Given the description of an element on the screen output the (x, y) to click on. 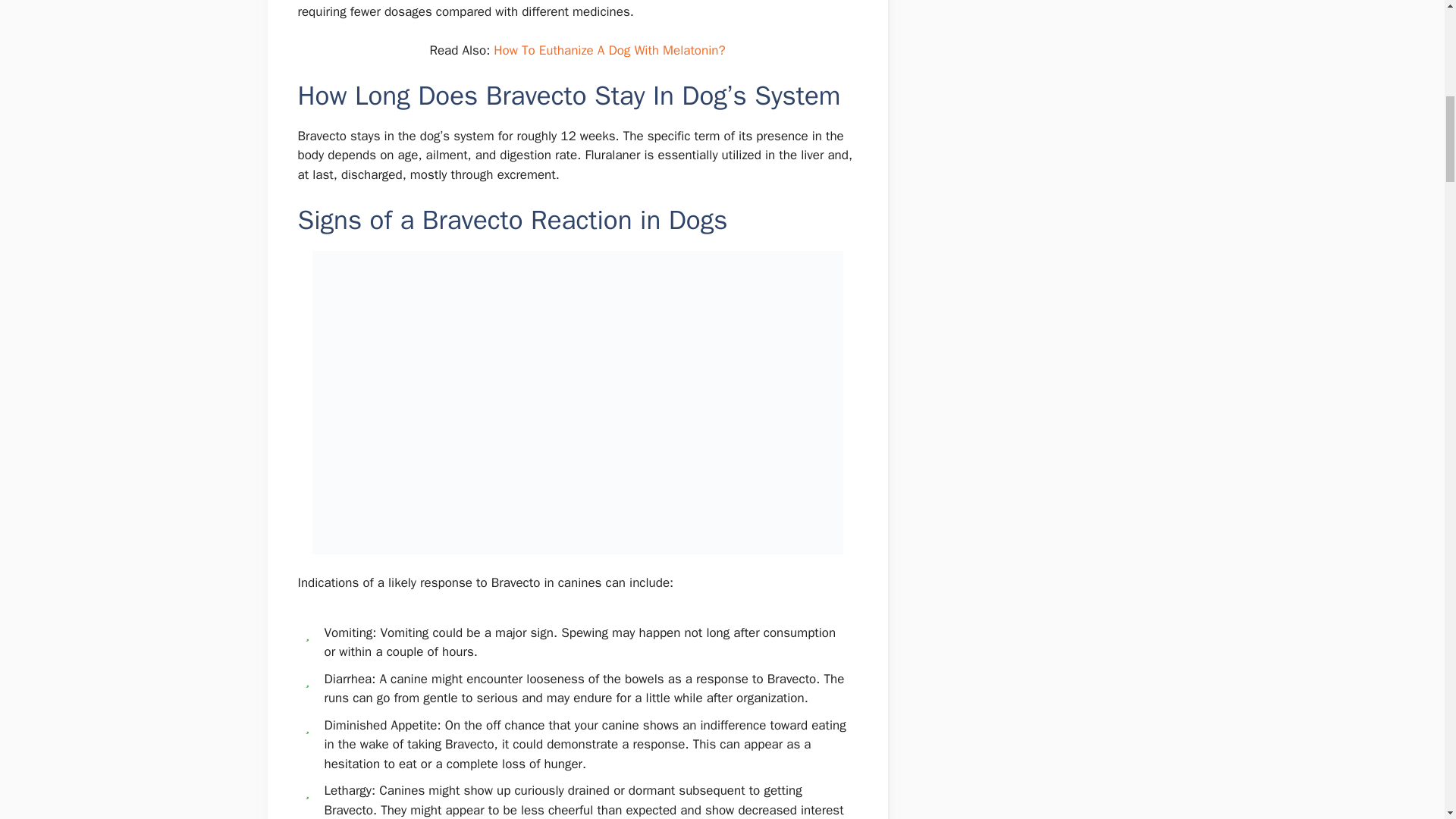
How To Euthanize A Dog With Melatonin? (609, 50)
